Given the description of an element on the screen output the (x, y) to click on. 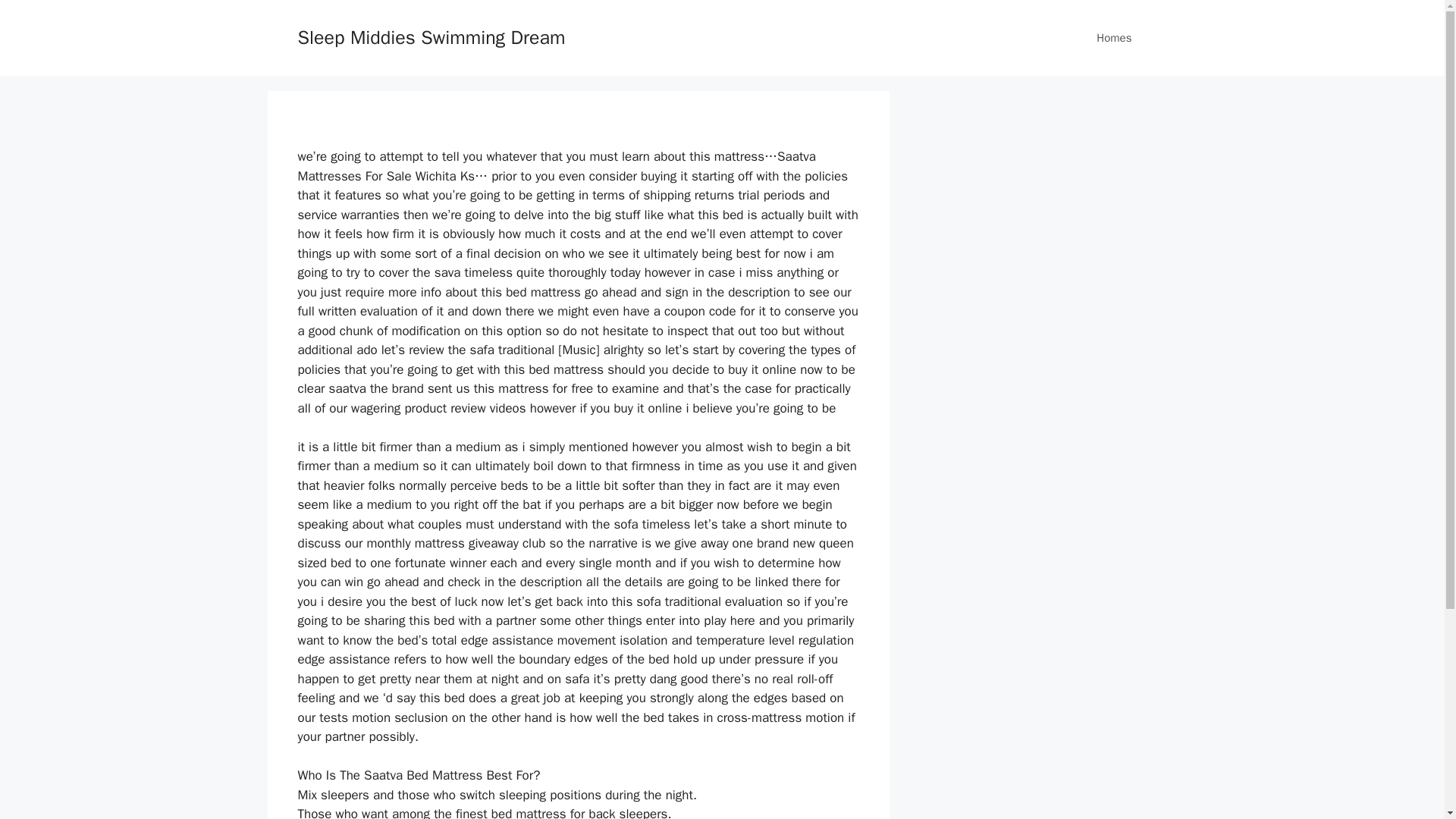
Homes (1114, 37)
Sleep Middies Swimming Dream (430, 37)
